Given the description of an element on the screen output the (x, y) to click on. 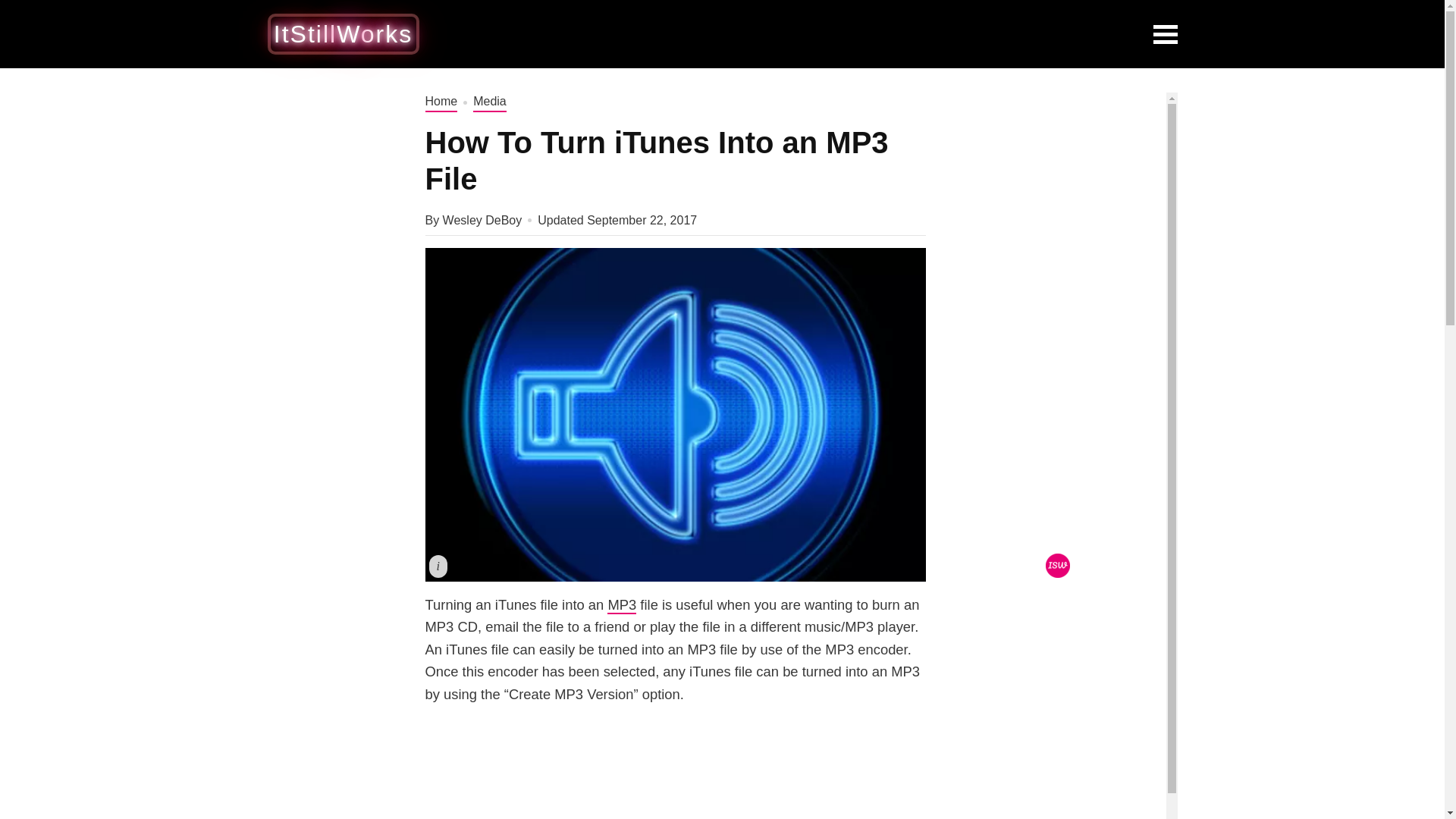
Home (441, 102)
MP3 (621, 605)
Media (489, 102)
ItStillWorks (342, 33)
